Given the description of an element on the screen output the (x, y) to click on. 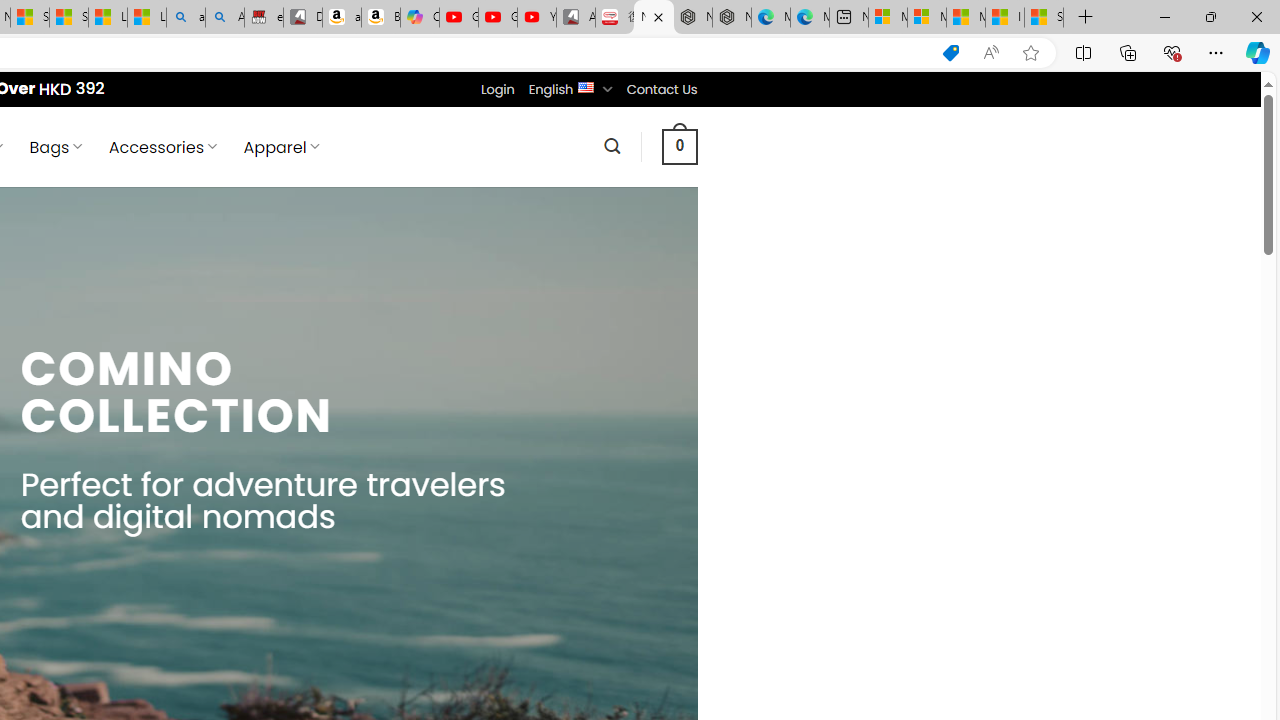
amazon - Search (185, 17)
English (586, 86)
amazon.in/dp/B0CX59H5W7/?tag=gsmcom05-21 (341, 17)
This site has coupons! Shopping in Microsoft Edge (950, 53)
I Gained 20 Pounds of Muscle in 30 Days! | Watch (1004, 17)
Amazon Echo Dot PNG - Search Images (225, 17)
